Given the description of an element on the screen output the (x, y) to click on. 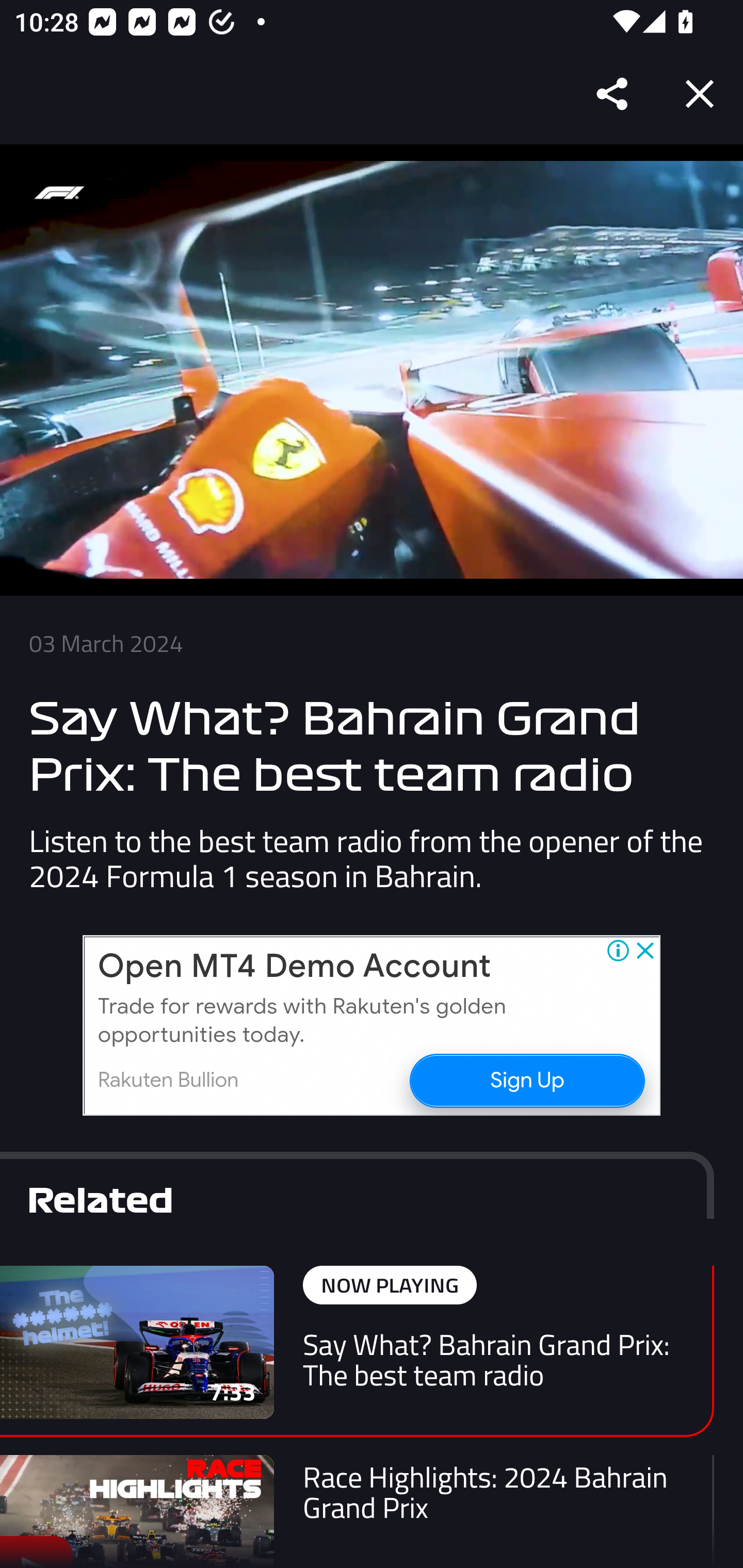
Share (612, 93)
Close (699, 93)
Video Player (371, 369)
Open MT4 Demo Account (294, 966)
Sign Up (526, 1080)
Rakuten Bullion (168, 1080)
7:13 Race Highlights: 2024 Bahrain Grand Prix (357, 1511)
